Given the description of an element on the screen output the (x, y) to click on. 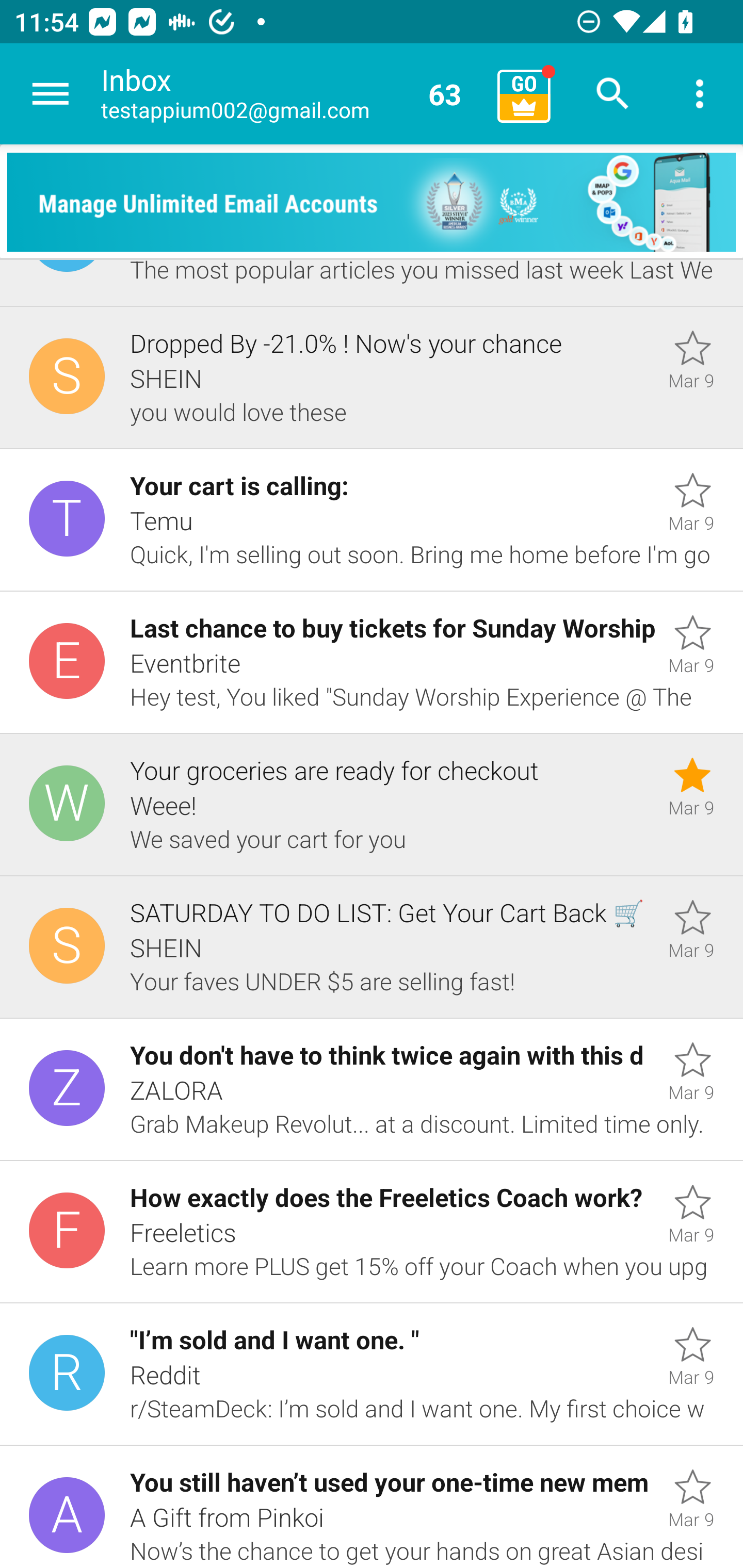
Navigate up (50, 93)
Inbox testappium002@gmail.com 63 (291, 93)
Search (612, 93)
More options (699, 93)
